Given the description of an element on the screen output the (x, y) to click on. 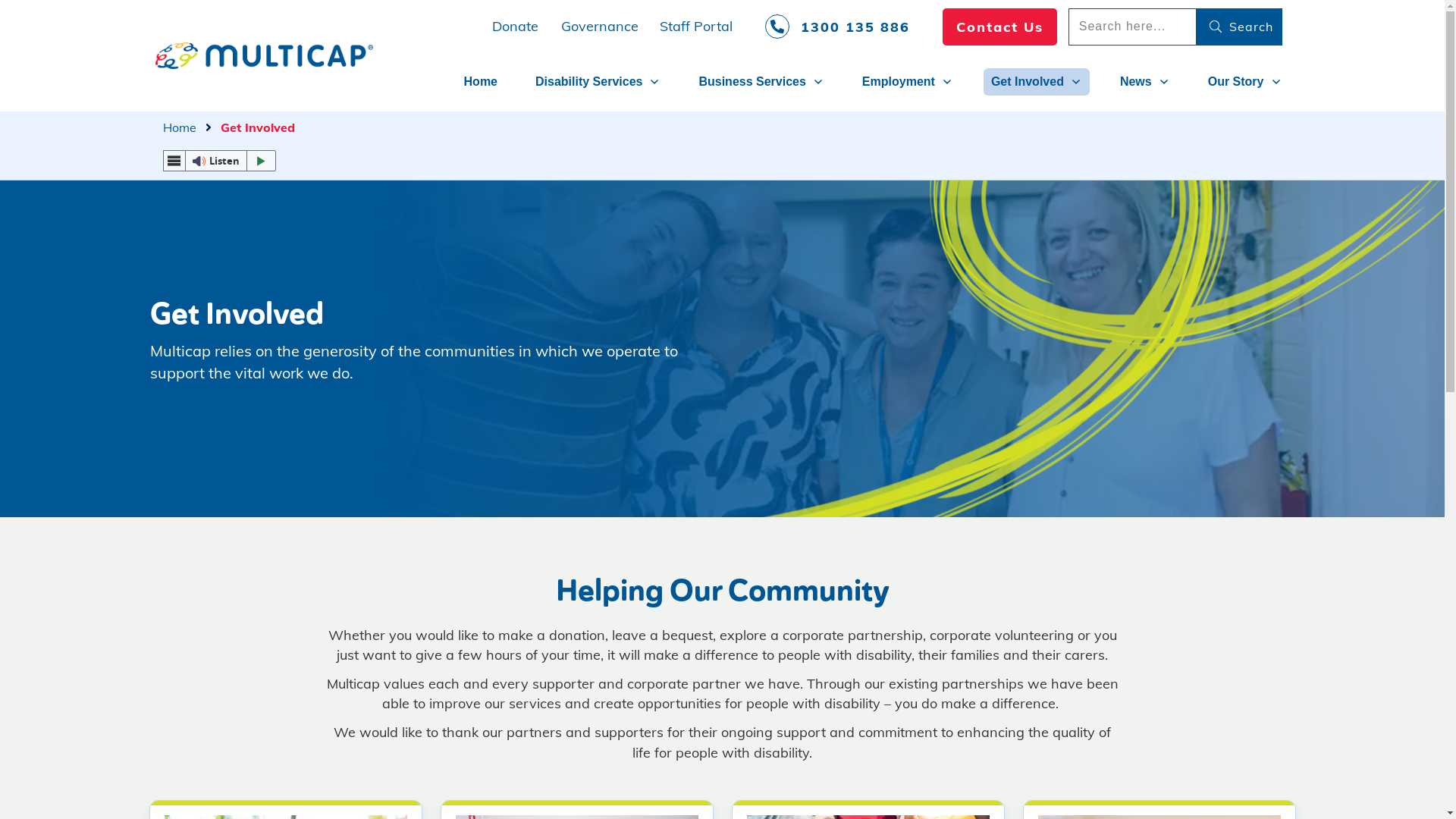
Listen Element type: text (219, 160)
Staff Portal Element type: text (695, 25)
Donate Element type: text (515, 25)
webReader menu Element type: hover (173, 160)
Home Element type: text (480, 81)
Governance Element type: text (599, 25)
1300 135 886 Element type: text (837, 26)
Home Element type: text (178, 127)
Contact Us Element type: text (999, 26)
Business Services Element type: text (760, 81)
Search Element type: text (1239, 26)
Our Story Element type: text (1245, 81)
News Element type: text (1145, 81)
Disability Services Element type: text (597, 81)
Employment Element type: text (907, 81)
Get Involved Element type: text (1036, 81)
